Given the description of an element on the screen output the (x, y) to click on. 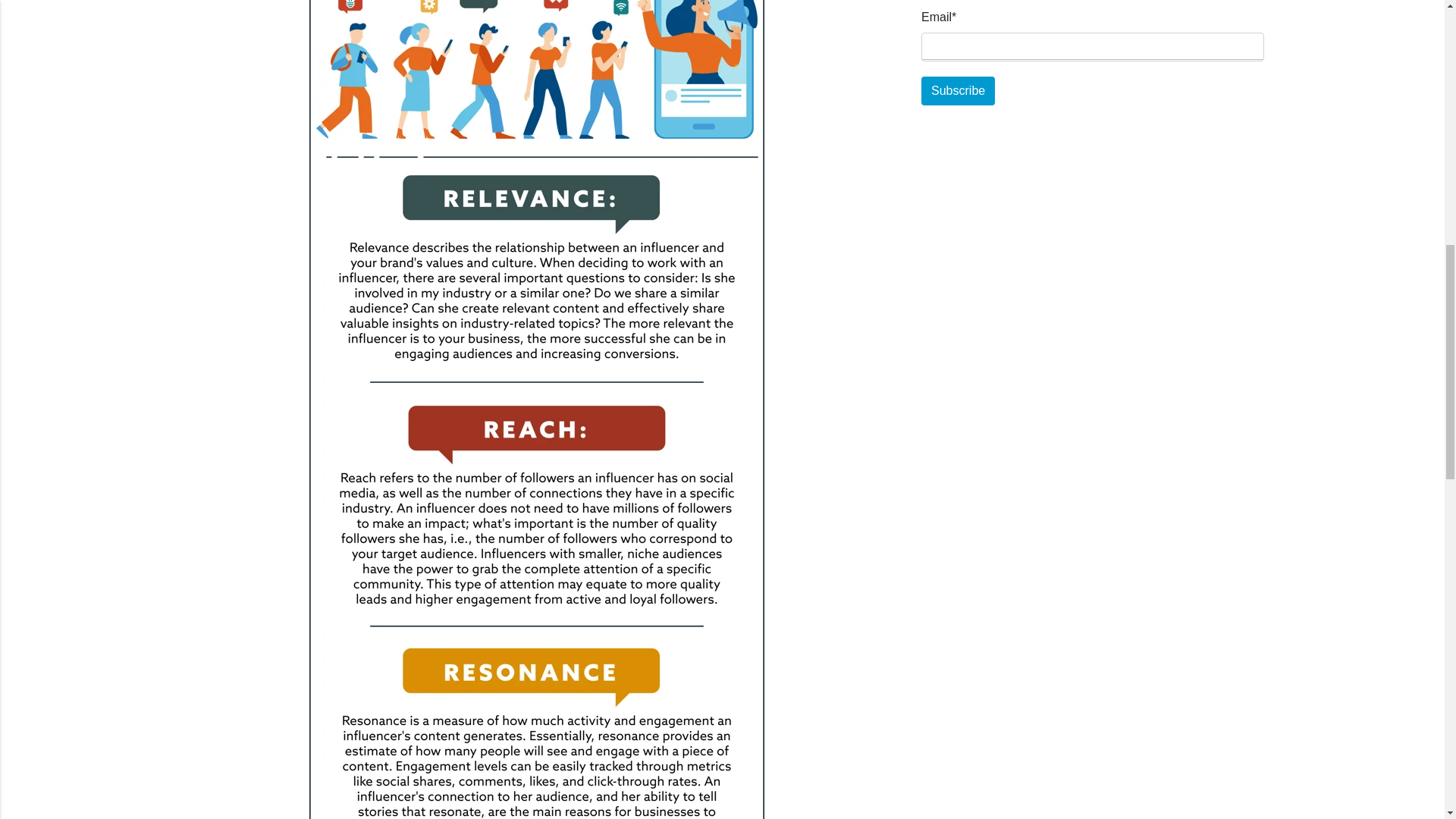
Subscribe (957, 90)
